Given the description of an element on the screen output the (x, y) to click on. 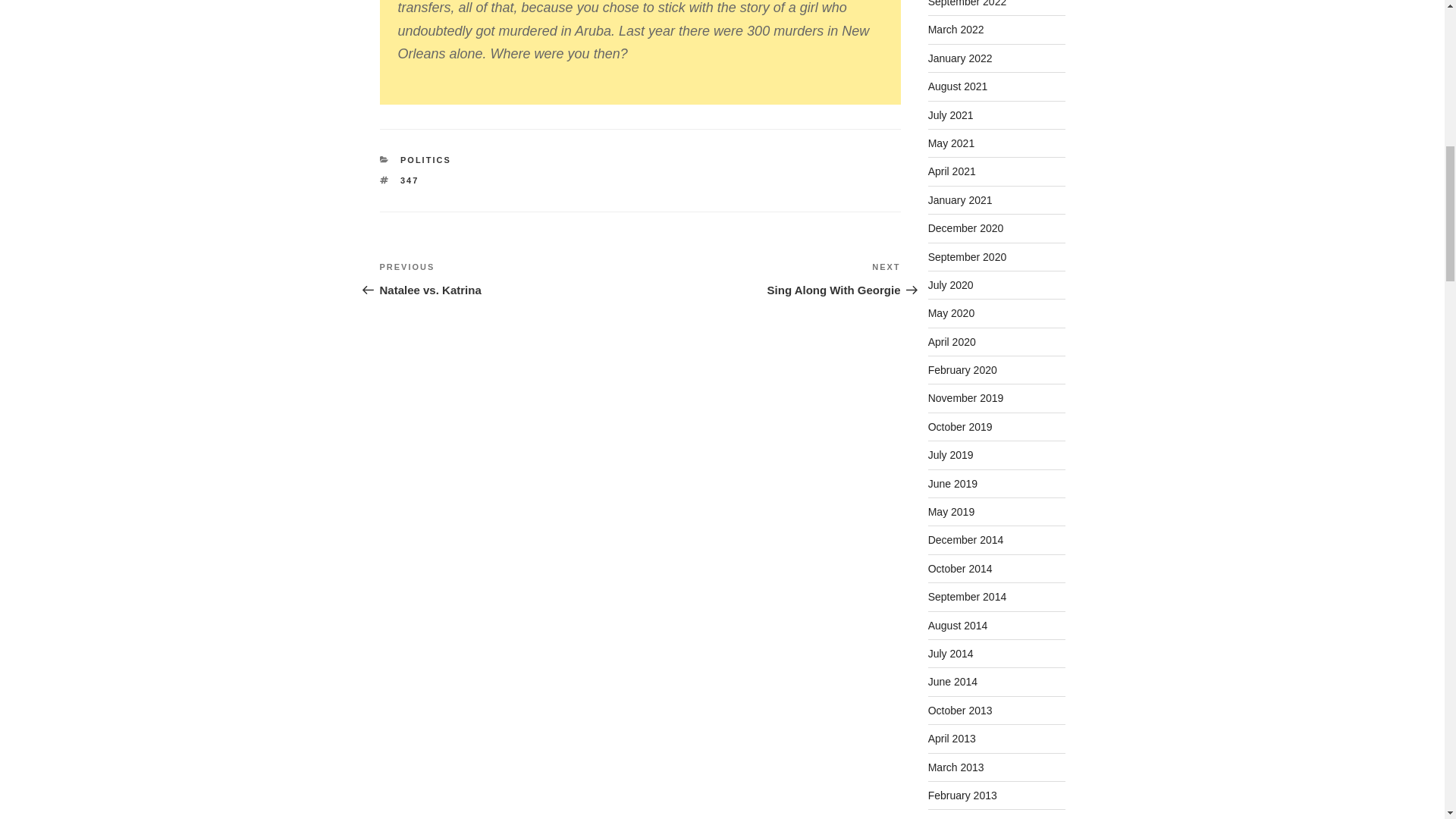
May 2019 (951, 511)
September 2022 (967, 3)
May 2020 (951, 313)
February 2020 (962, 369)
July 2019 (951, 454)
347 (509, 279)
August 2021 (409, 180)
July 2021 (958, 86)
April 2021 (951, 114)
